Given the description of an element on the screen output the (x, y) to click on. 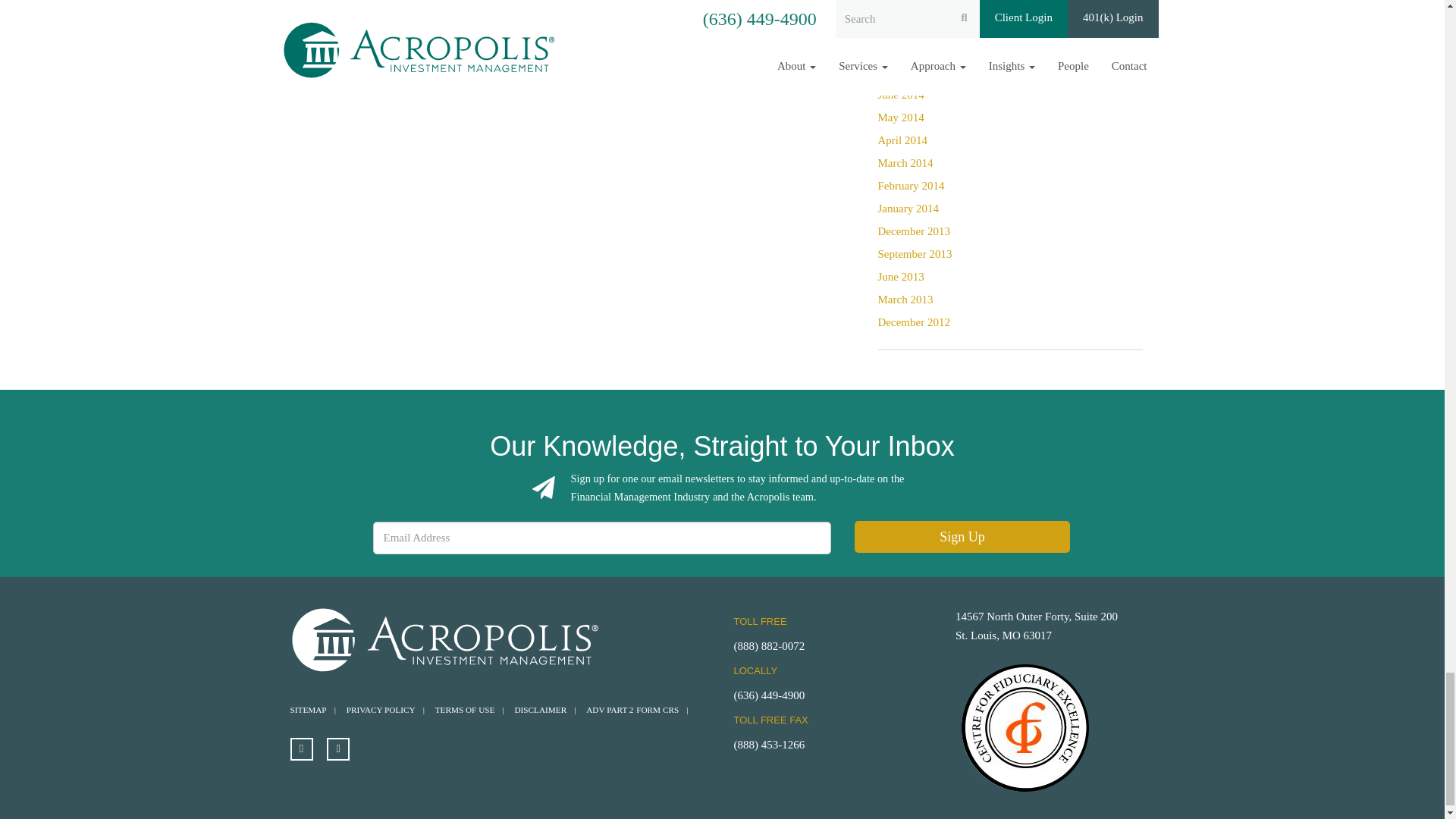
Sign Up (962, 536)
